Given the description of an element on the screen output the (x, y) to click on. 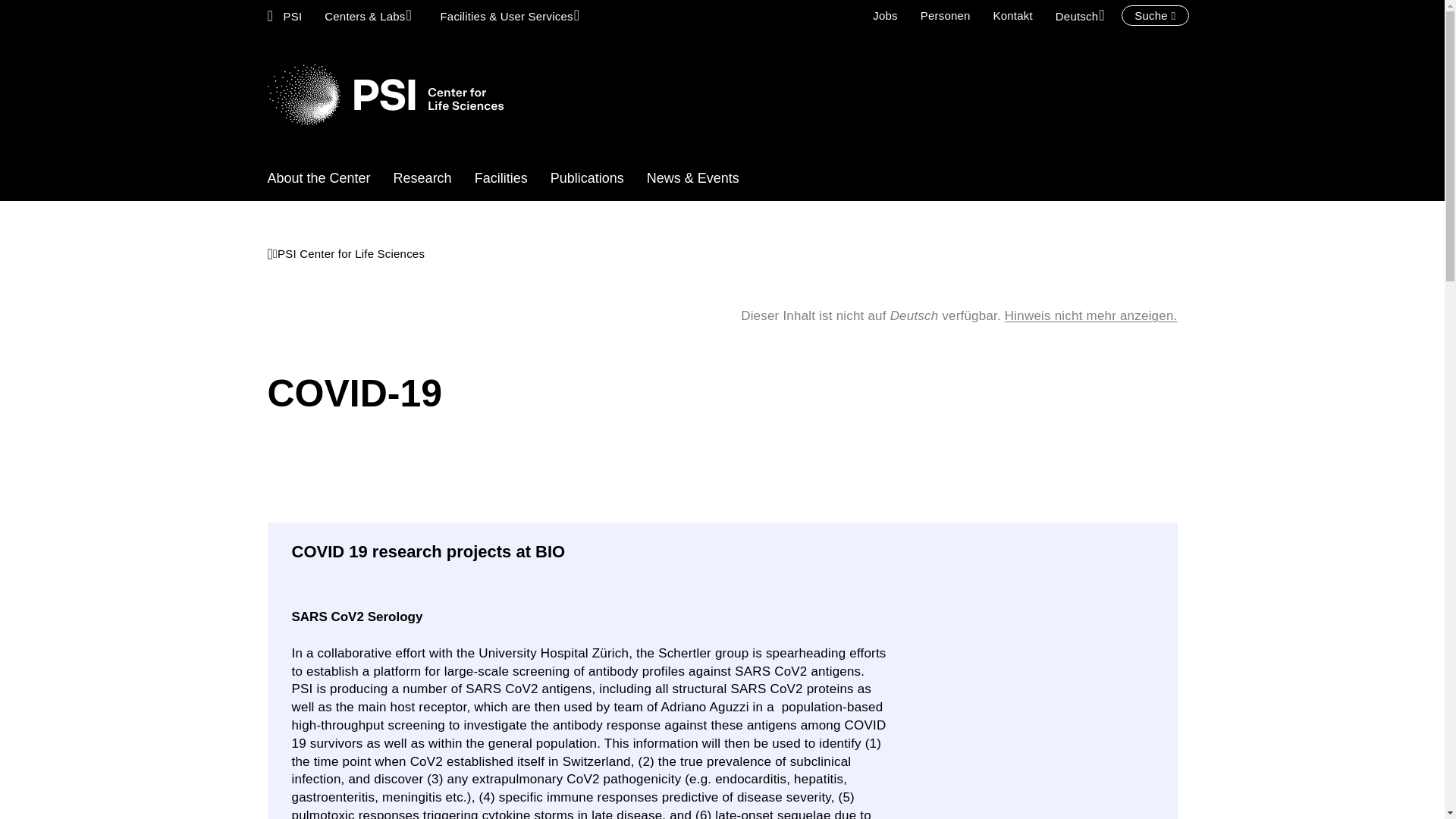
PSI (285, 15)
Change website language (1082, 15)
